Given the description of an element on the screen output the (x, y) to click on. 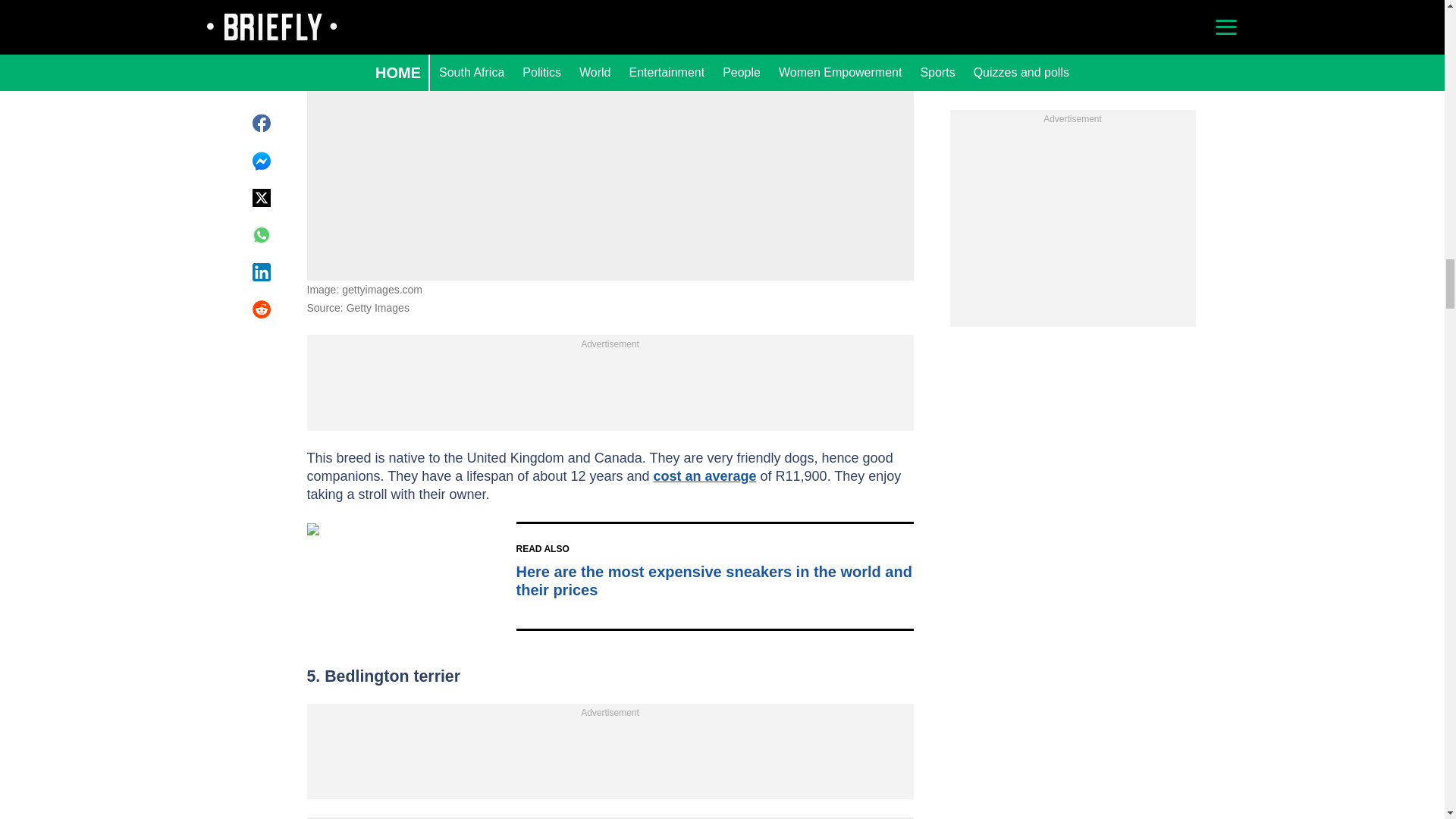
What is the most expensive dog breeds 2020? (609, 110)
